Given the description of an element on the screen output the (x, y) to click on. 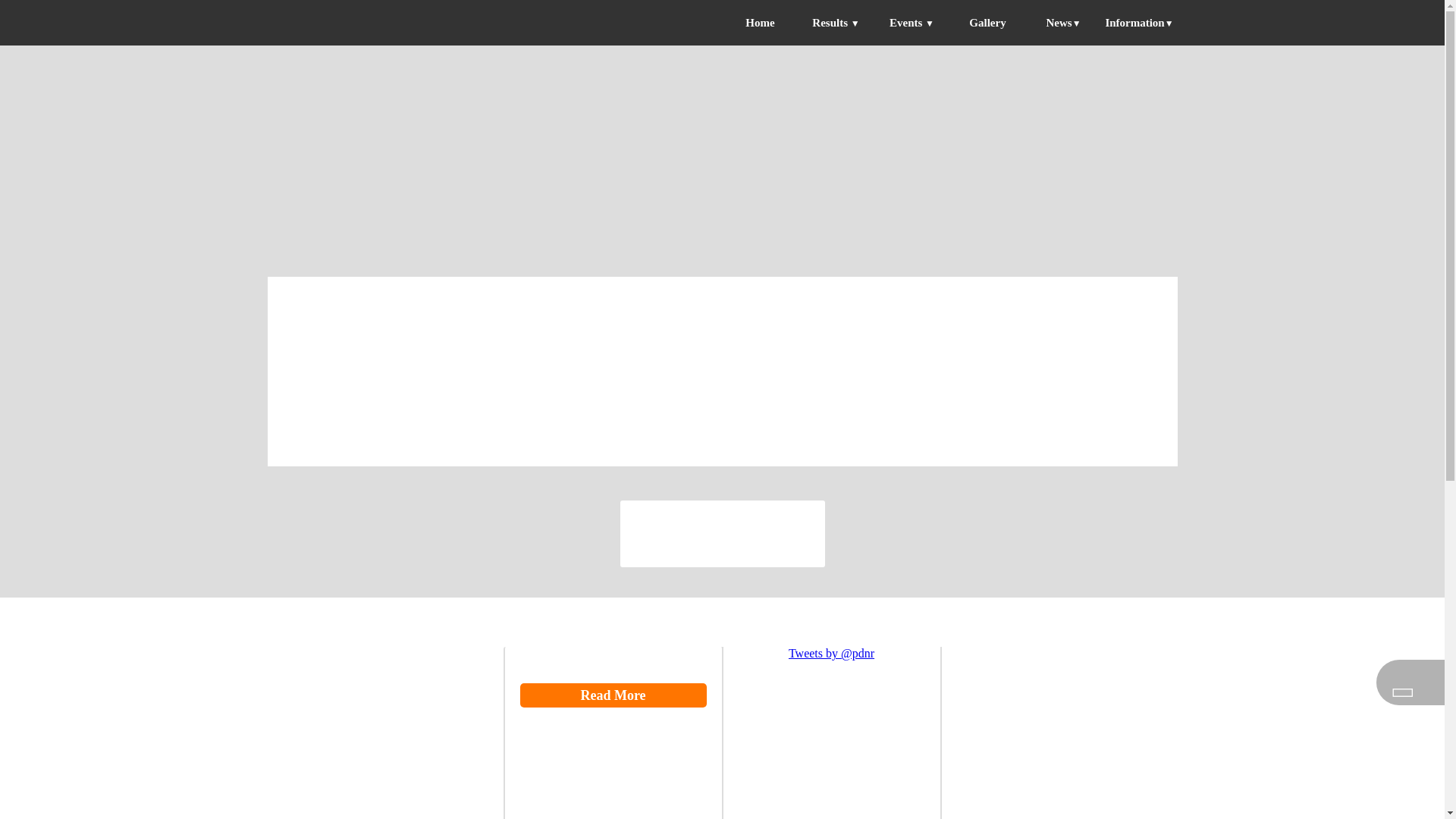
Events Element type: text (907, 22)
Read More Element type: text (613, 695)
Gallery Element type: text (987, 22)
Information Element type: text (1134, 22)
Home Element type: text (759, 22)
Results Element type: text (831, 22)
News Element type: text (1058, 22)
Tweets by @pdnr Element type: text (831, 652)
